Given the description of an element on the screen output the (x, y) to click on. 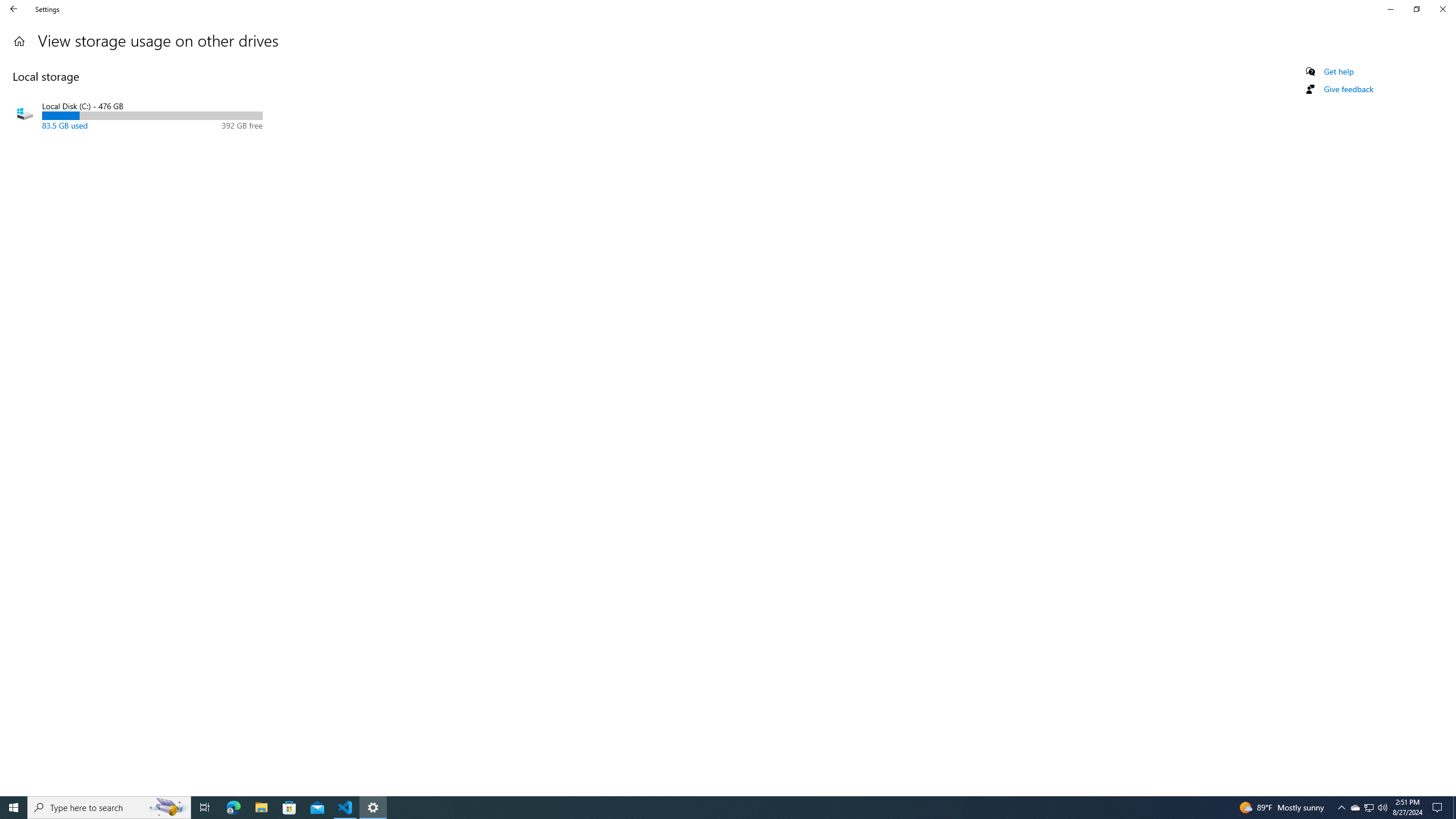
Q2790: 100% (1355, 807)
Microsoft Edge (1382, 807)
Close Settings (233, 807)
Action Center, No new notifications (1442, 9)
Settings - 1 running window (1439, 807)
Notification Chevron (373, 807)
Show desktop (1341, 807)
Visual Studio Code - 1 running window (1454, 807)
Type here to search (345, 807)
File Explorer (108, 807)
